Given the description of an element on the screen output the (x, y) to click on. 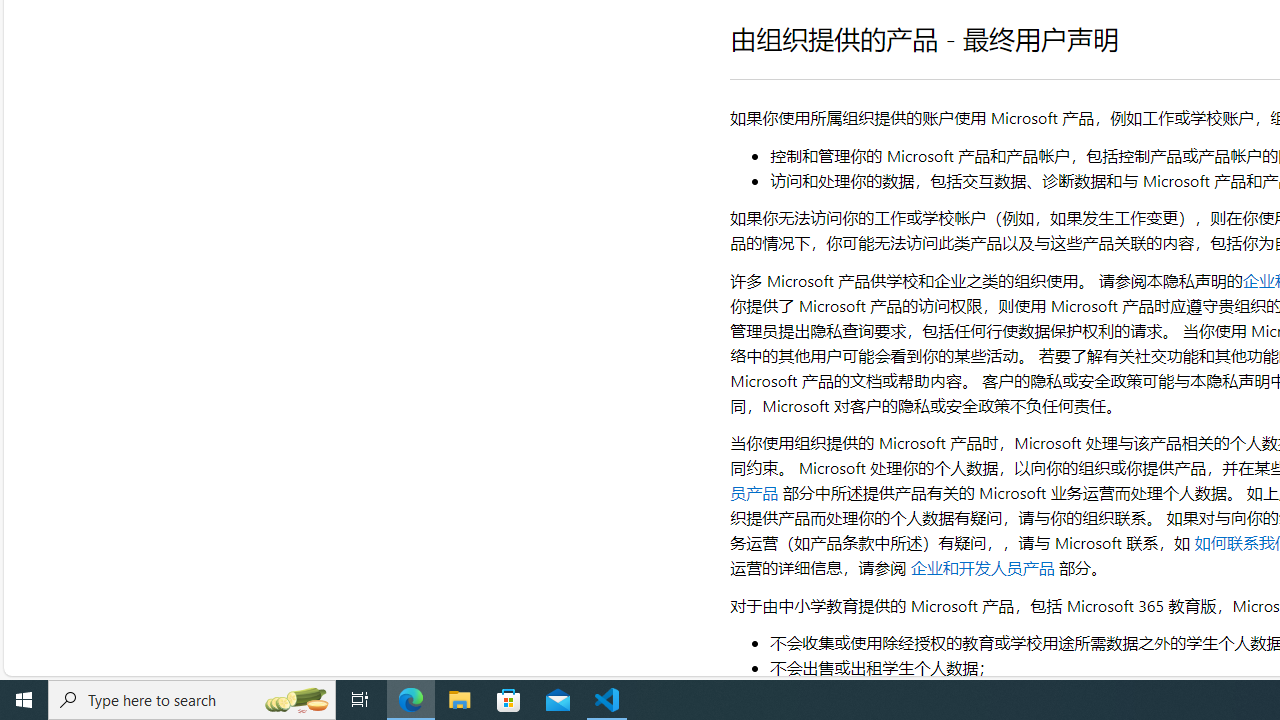
File Explorer (460, 699)
Microsoft Edge - 1 running window (411, 699)
Microsoft Store (509, 699)
Task View (359, 699)
Search highlights icon opens search home window (295, 699)
Type here to search (191, 699)
Start (24, 699)
Visual Studio Code - 1 running window (607, 699)
